Given the description of an element on the screen output the (x, y) to click on. 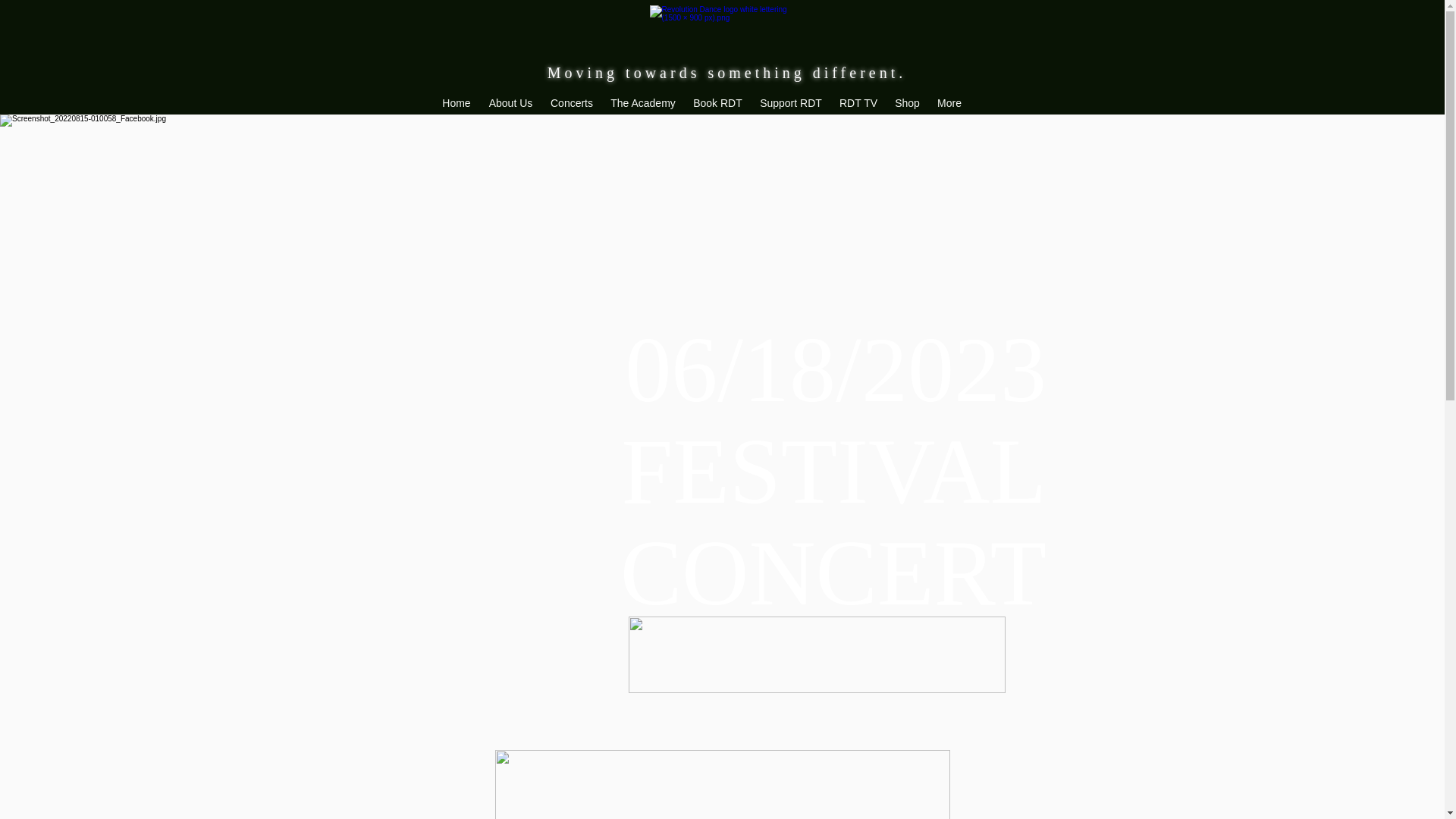
Shop (906, 103)
washington park.png (817, 654)
Support RDT (790, 103)
RDT TV (858, 103)
Concerts (571, 103)
The Academy (643, 103)
Home (456, 103)
Book RDT (717, 103)
Moving towards something different. (726, 72)
About Us (510, 103)
